Given the description of an element on the screen output the (x, y) to click on. 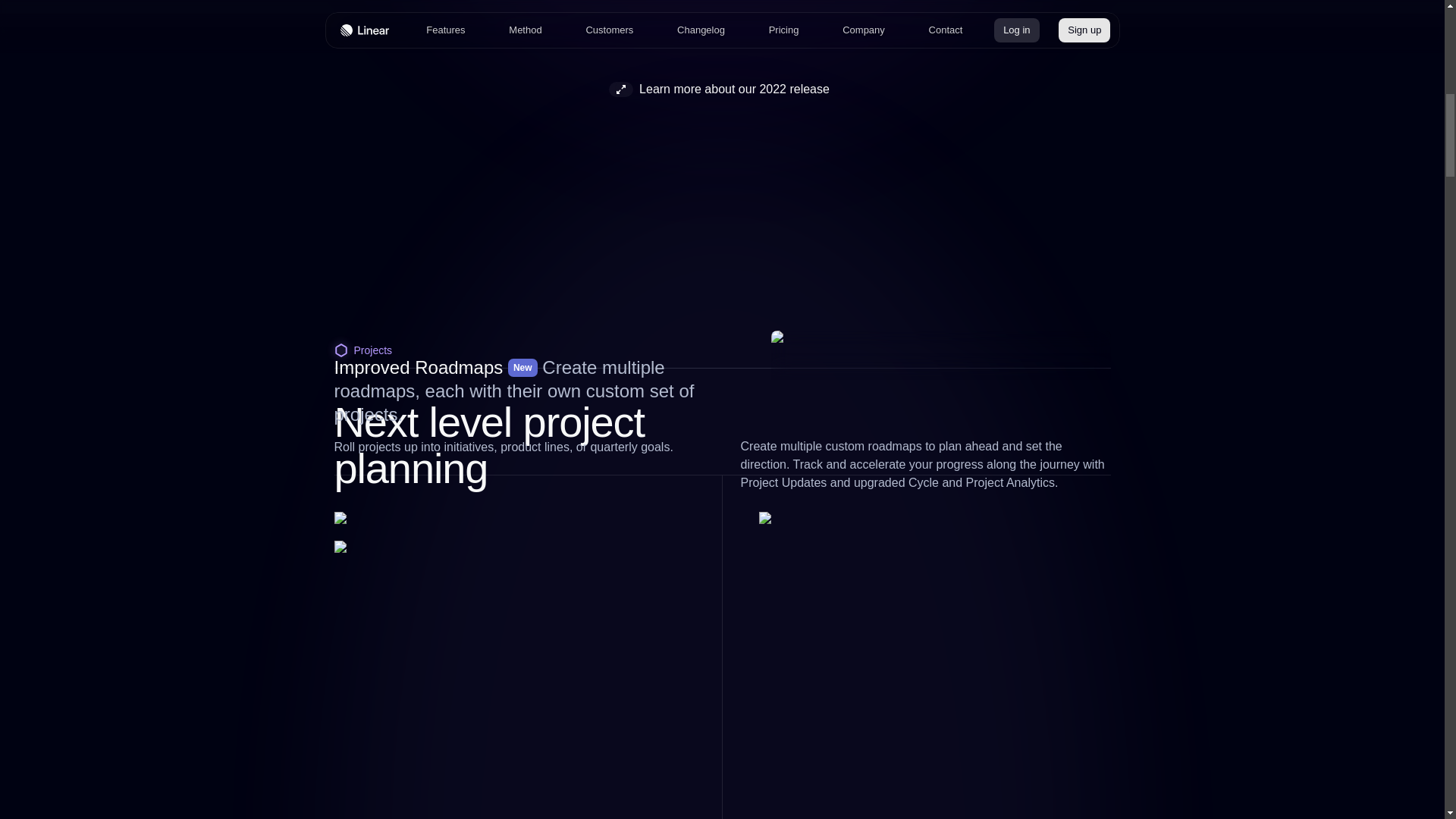
Learn more about our 2022 release (721, 88)
Projects (721, 355)
